Given the description of an element on the screen output the (x, y) to click on. 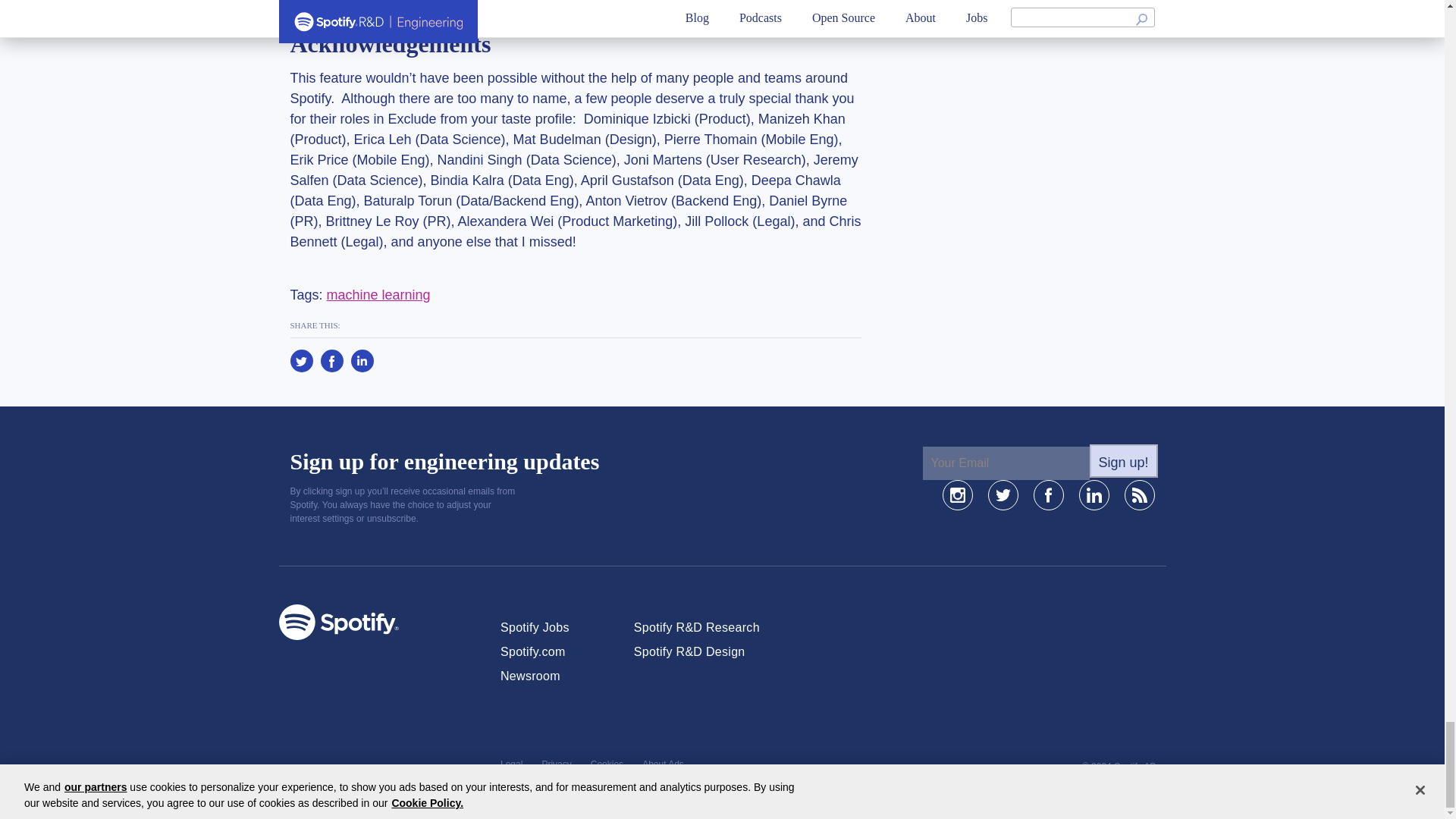
Spotify.com (533, 651)
Cookies (607, 764)
Newsroom (530, 675)
Spotify Jobs (534, 626)
machine learning (378, 294)
Sign up! (1123, 460)
Sign up! (1123, 460)
